Given the description of an element on the screen output the (x, y) to click on. 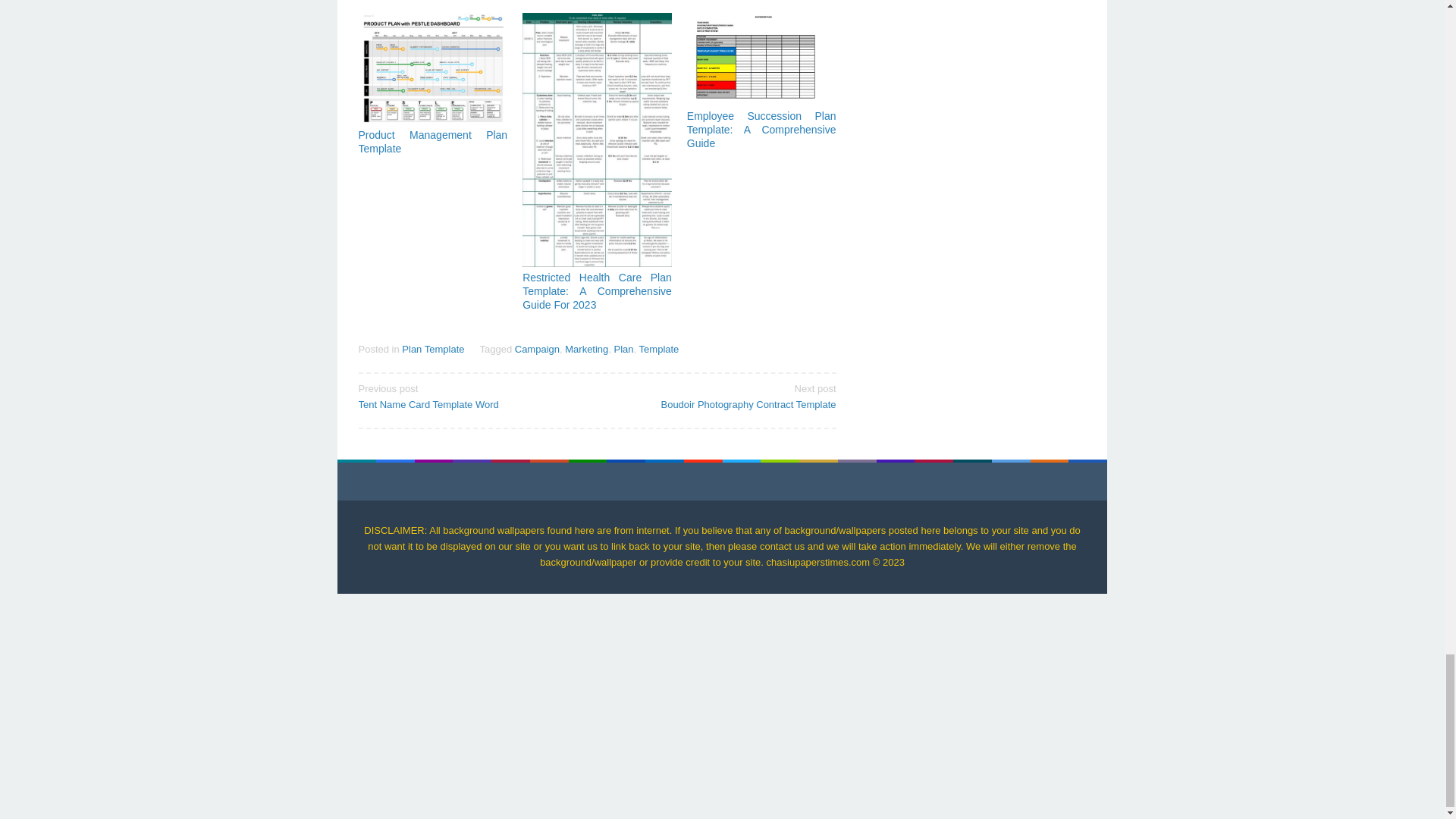
Marketing (586, 348)
Permalink to: Product Management Plan Template (432, 141)
Plan (623, 348)
Permalink to: Product Management Plan Template (432, 68)
Plan Template (432, 348)
Campaign (472, 395)
Template (537, 348)
